Given the description of an element on the screen output the (x, y) to click on. 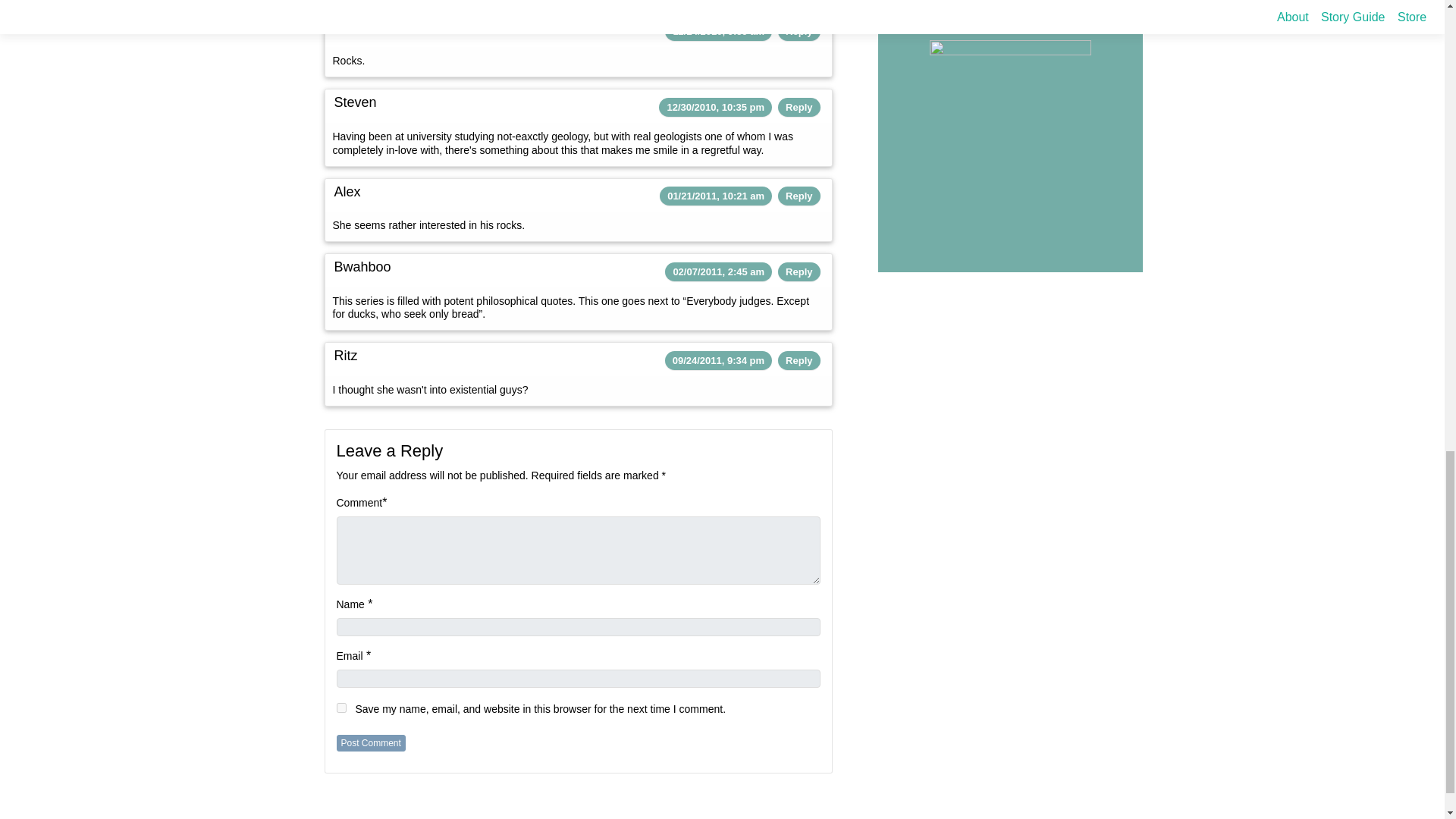
Reply (799, 271)
Reply (799, 30)
Post Comment (371, 742)
Post Comment (371, 742)
Reply (799, 360)
Reply (799, 107)
yes (341, 707)
Reply (799, 195)
